Given the description of an element on the screen output the (x, y) to click on. 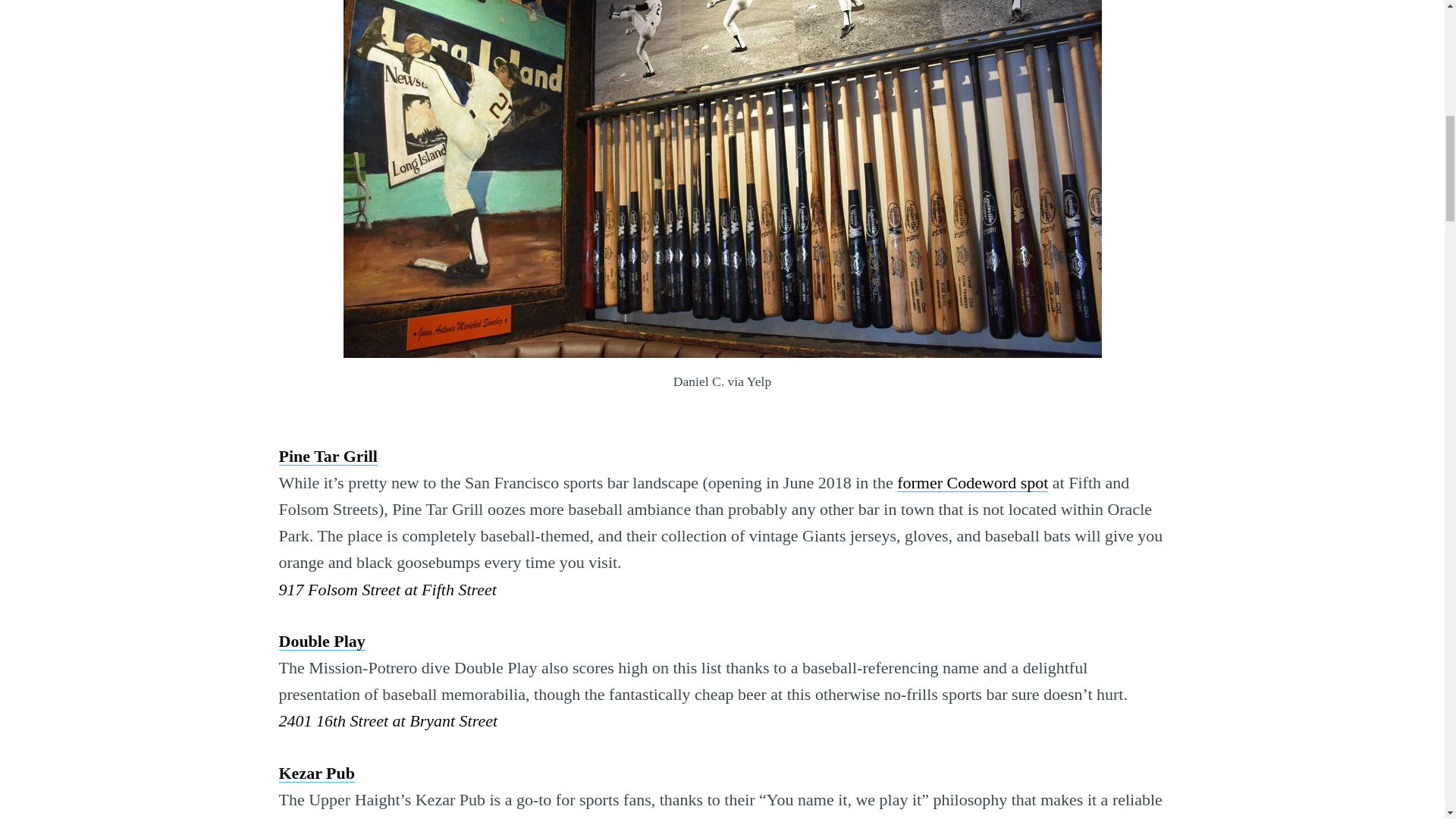
former Codeword spot (972, 482)
Kezar Pub (317, 772)
Pine Tar Grill (328, 456)
Double Play (322, 640)
